Given the description of an element on the screen output the (x, y) to click on. 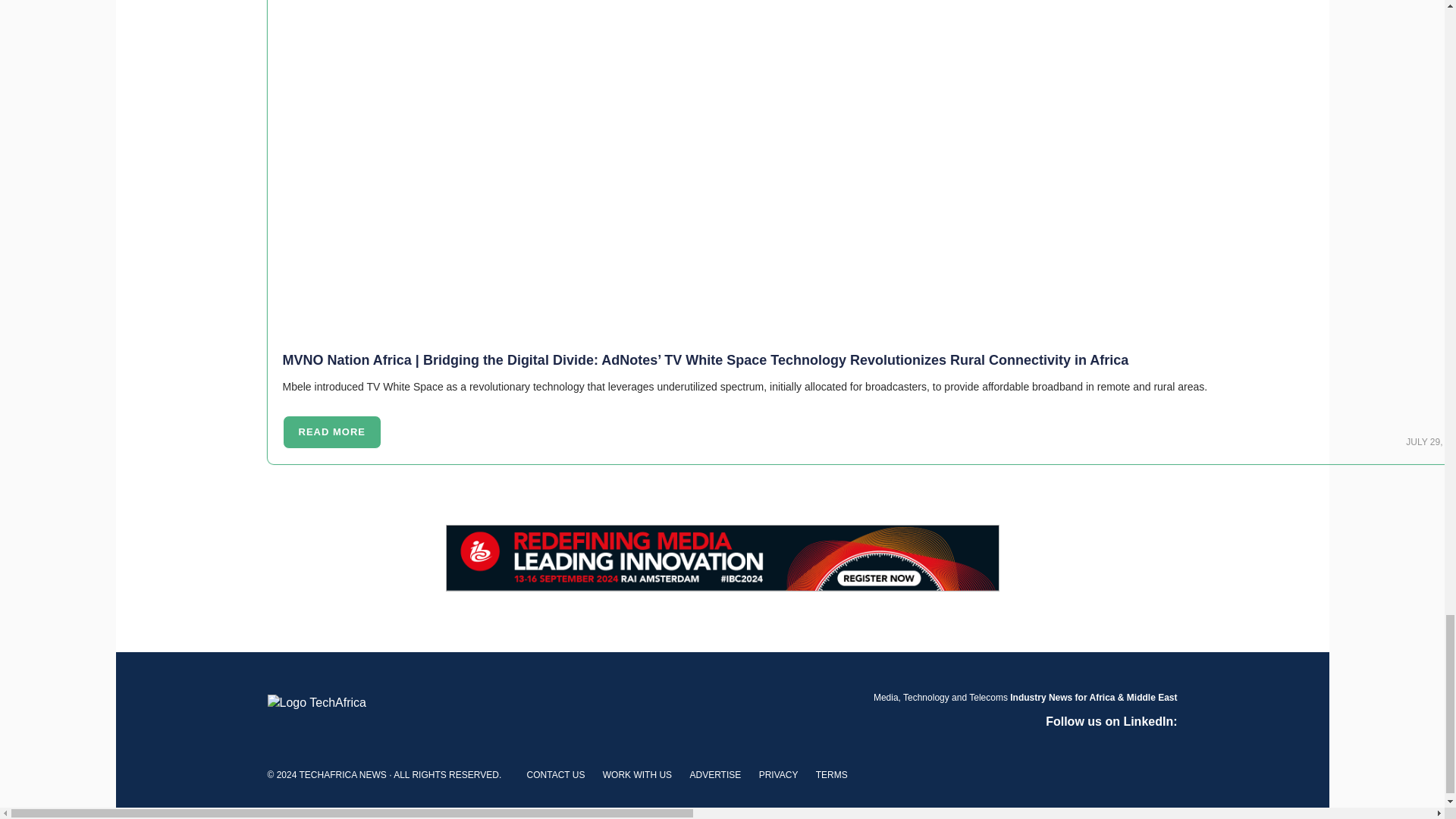
PRIVACY (777, 775)
ADVERTISE (714, 775)
TERMS (831, 775)
WORK WITH US (636, 775)
CONTACT US (556, 775)
